Given the description of an element on the screen output the (x, y) to click on. 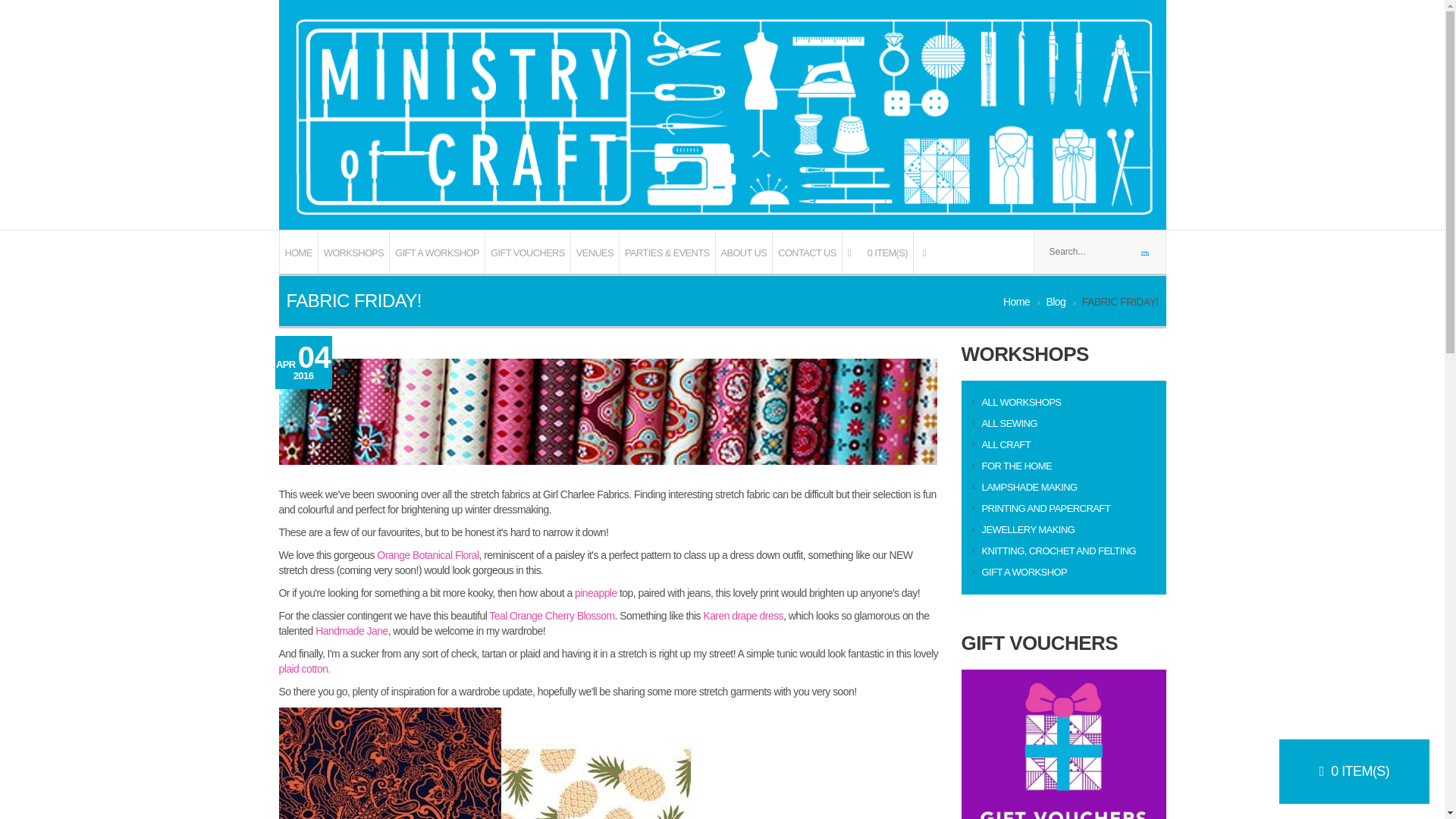
All Sewing (1004, 423)
FABRIC FRIDAY! (608, 411)
All Craft (1001, 444)
For the home (1011, 465)
Knitting, Crochet and Felting (1053, 550)
Lampshade Making (1024, 487)
Gift a Workshop (1019, 572)
Printing and Papercraft (1040, 508)
Gift Vouchers (1063, 744)
Jewellery Making (1023, 529)
FABRIC FRIDAY! (505, 763)
All Workshops (1016, 401)
